Given the description of an element on the screen output the (x, y) to click on. 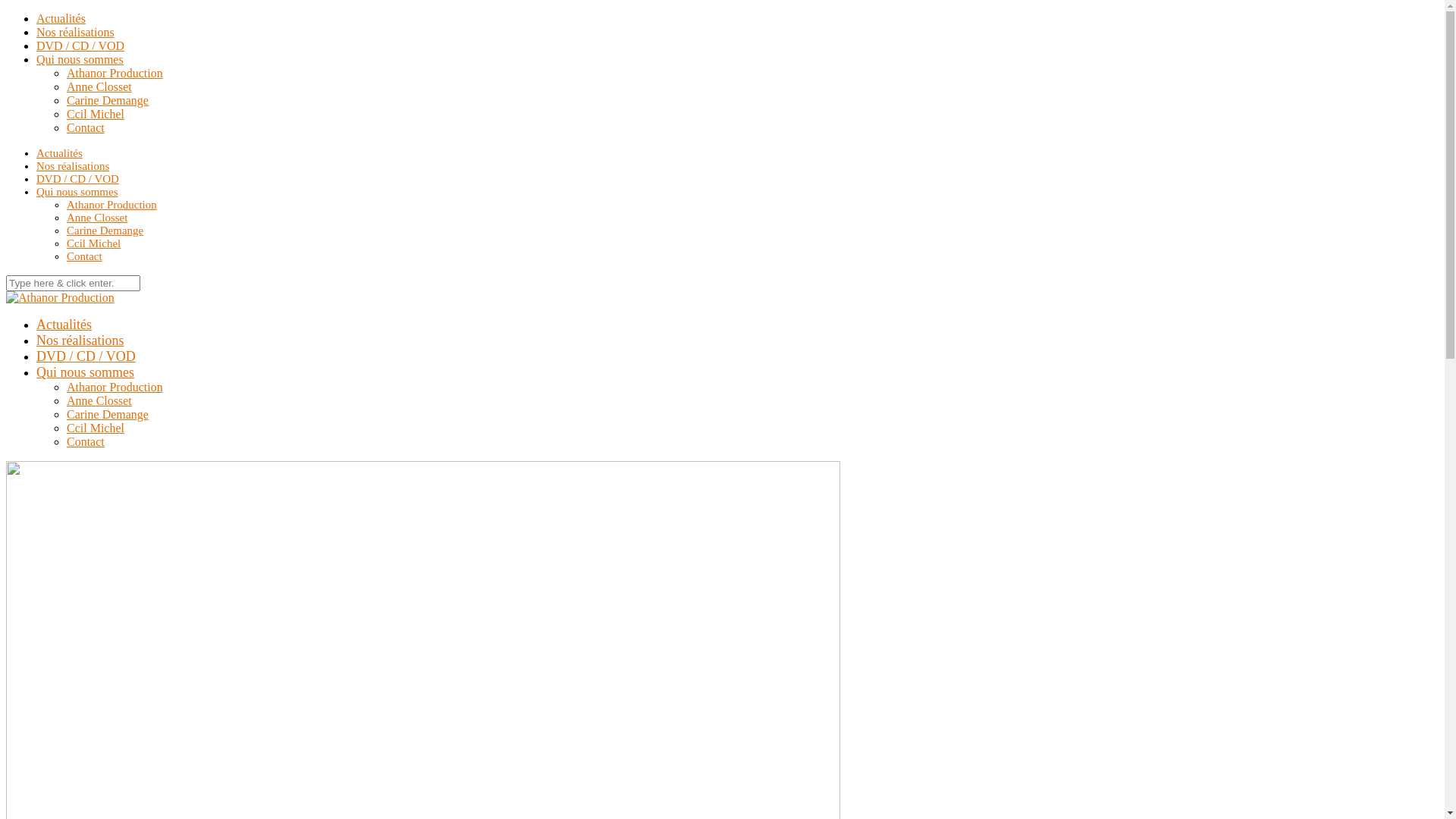
Ccil Michel Element type: text (95, 113)
Contact Element type: text (84, 256)
Athanor Production Element type: text (114, 72)
Ccil Michel Element type: text (95, 427)
Anne Closset Element type: text (96, 217)
Carine Demange Element type: text (104, 230)
Anne Closset Element type: text (98, 400)
Qui nous sommes Element type: text (77, 191)
Contact Element type: text (85, 441)
Qui nous sommes Element type: text (85, 371)
Ccil Michel Element type: text (93, 243)
Carine Demange Element type: text (107, 100)
DVD / CD / VOD Element type: text (77, 178)
DVD / CD / VOD Element type: text (85, 356)
DVD / CD / VOD Element type: text (80, 45)
Athanor Production Element type: text (114, 386)
Contact Element type: text (85, 127)
Anne Closset Element type: text (98, 86)
Qui nous sommes Element type: text (79, 59)
Carine Demange Element type: text (107, 413)
Athanor Production Element type: text (111, 204)
